Given the description of an element on the screen output the (x, y) to click on. 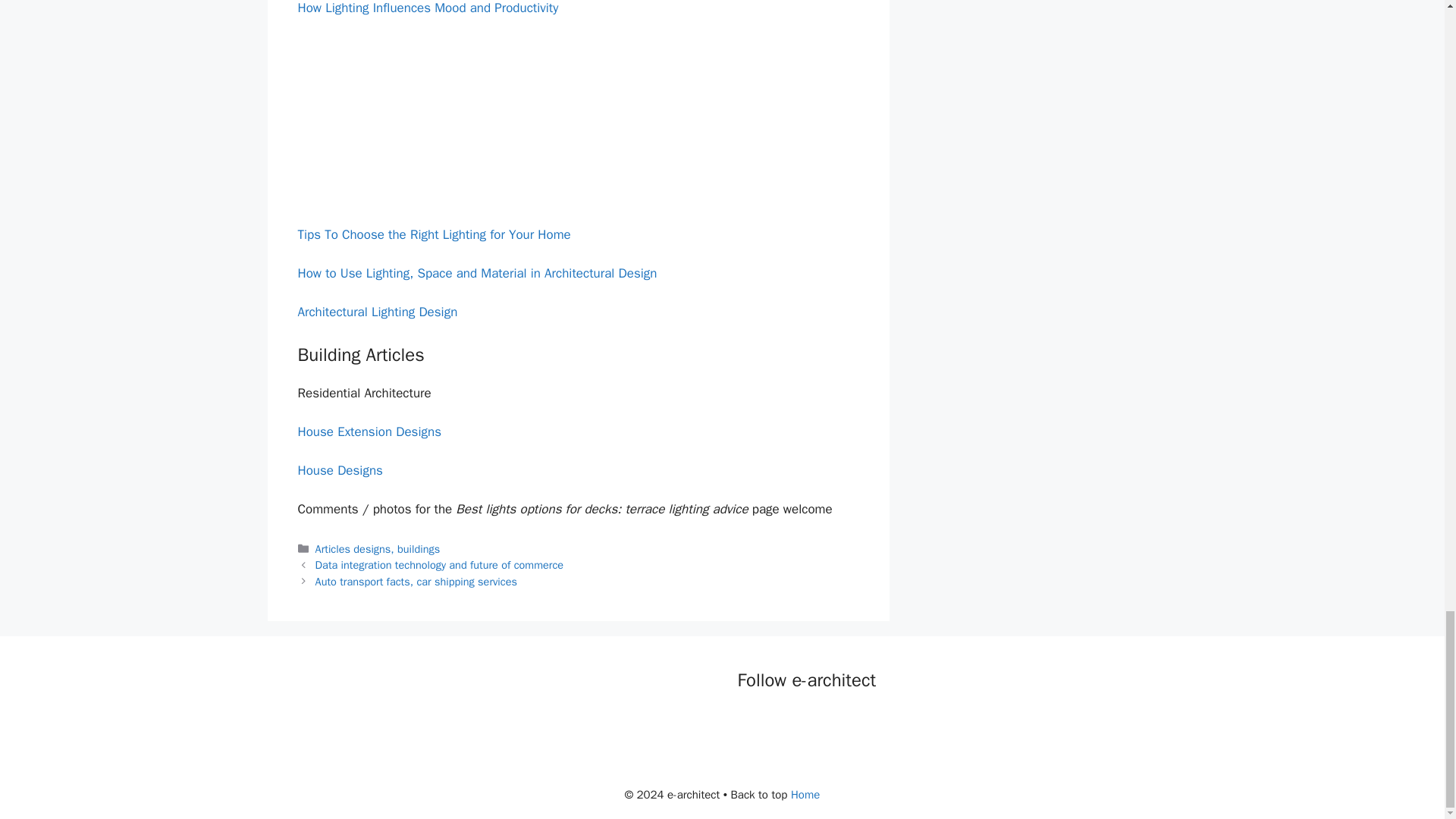
Tips To Choose the Right Lighting for Your Home (433, 234)
Architectural Lighting Design (377, 311)
House Extension Designs (369, 431)
How Lighting Influences Mood and Productivity (427, 7)
Data integration technology and future of commerce (439, 564)
linkedin (811, 722)
House Designs (339, 470)
Articles designs, buildings (378, 549)
instagram (842, 722)
